Given the description of an element on the screen output the (x, y) to click on. 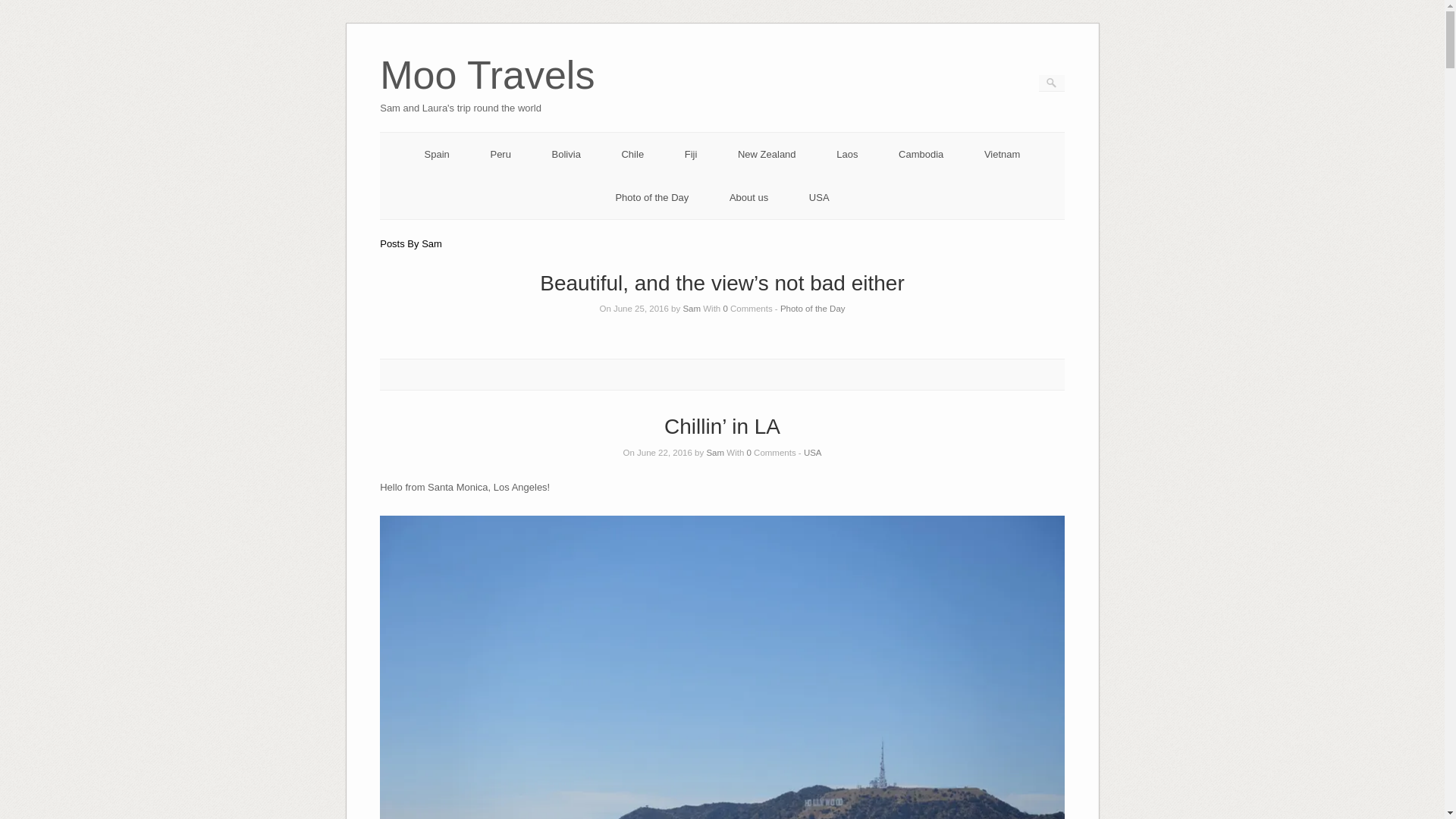
Photo of the Day (812, 307)
Photo of the Day (651, 197)
USA (819, 197)
Search (21, 7)
Vietnam (1002, 153)
Fiji (690, 153)
Chile (632, 153)
Laos (846, 153)
Sam (714, 452)
Bolivia (565, 153)
